Given the description of an element on the screen output the (x, y) to click on. 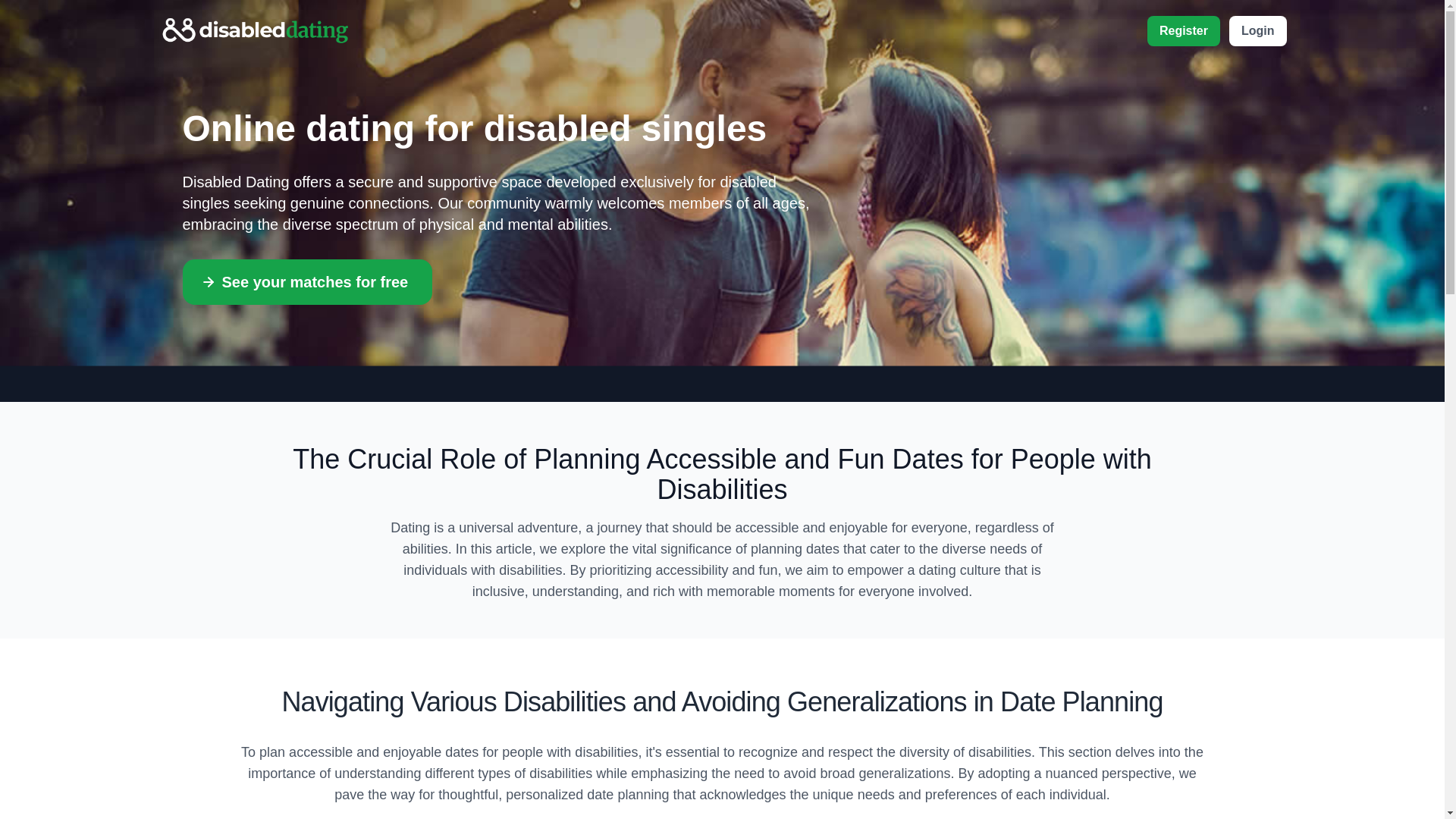
Login (1257, 30)
Log in (1183, 30)
Log in (1257, 30)
See your matches for free (307, 281)
Register (1185, 30)
Login (1257, 30)
Register (1183, 30)
